Given the description of an element on the screen output the (x, y) to click on. 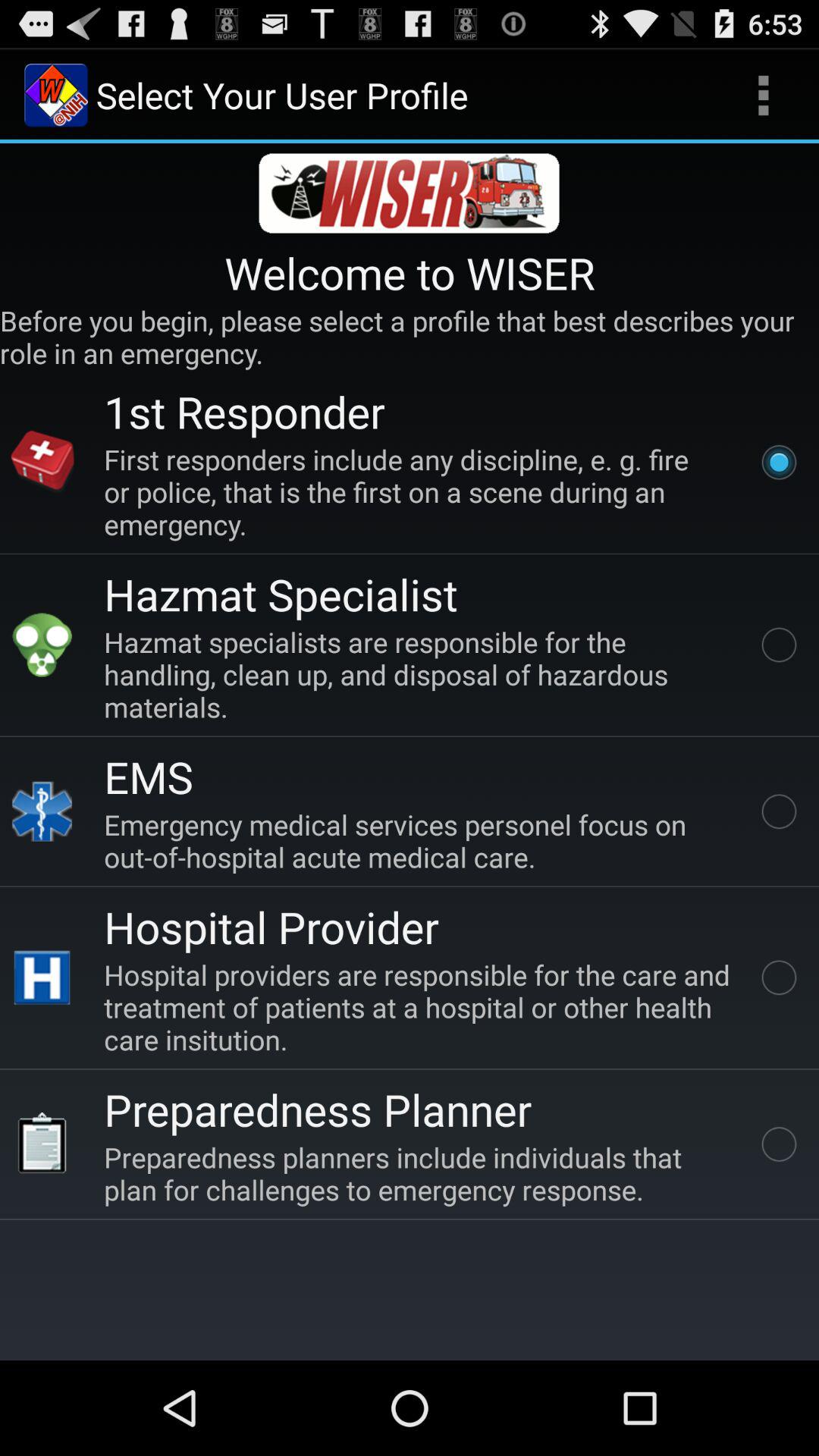
turn on hospital provider item (271, 926)
